Given the description of an element on the screen output the (x, y) to click on. 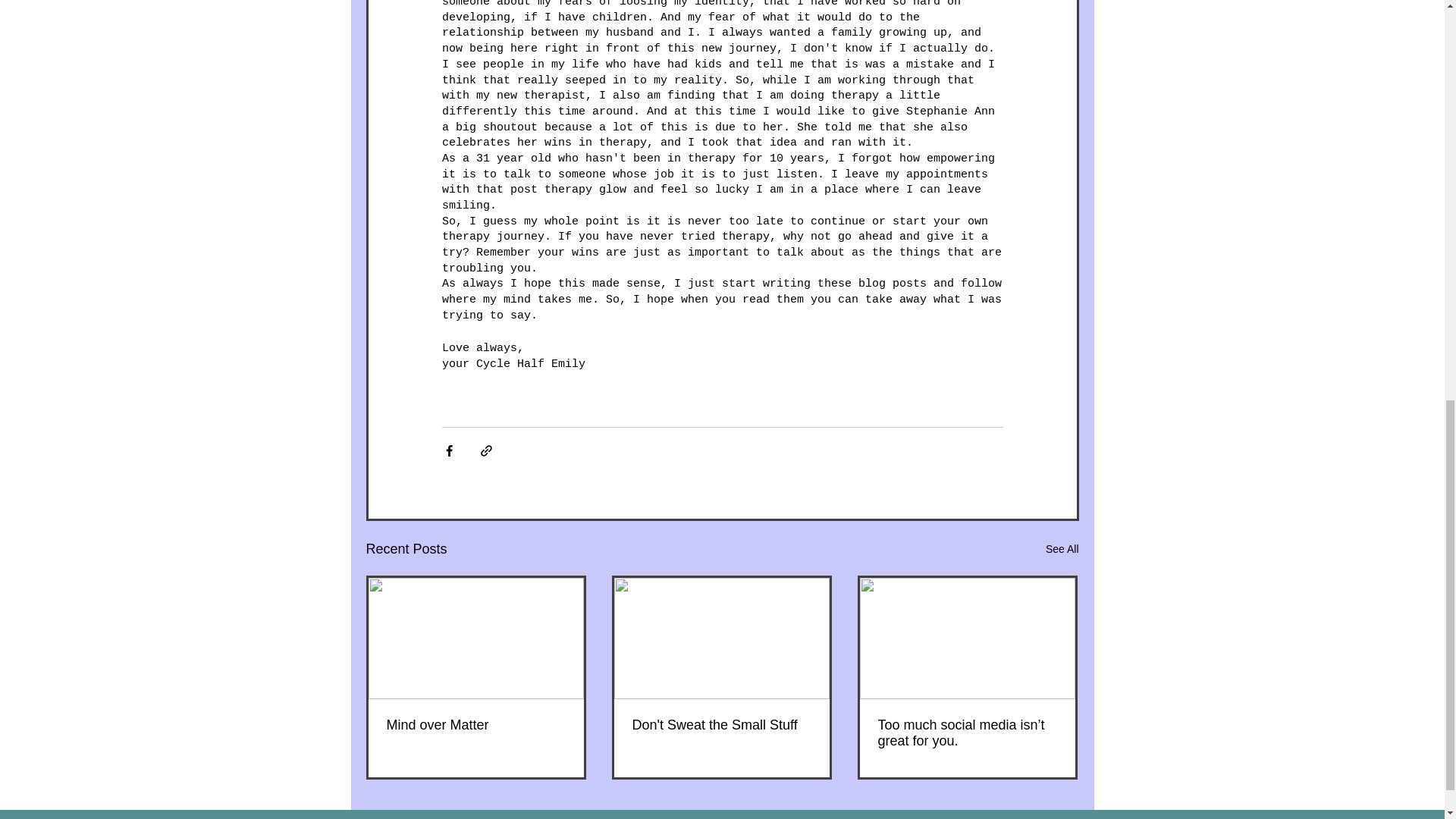
See All (1061, 549)
Mind over Matter (476, 725)
Don't Sweat the Small Stuff (720, 725)
